Given the description of an element on the screen output the (x, y) to click on. 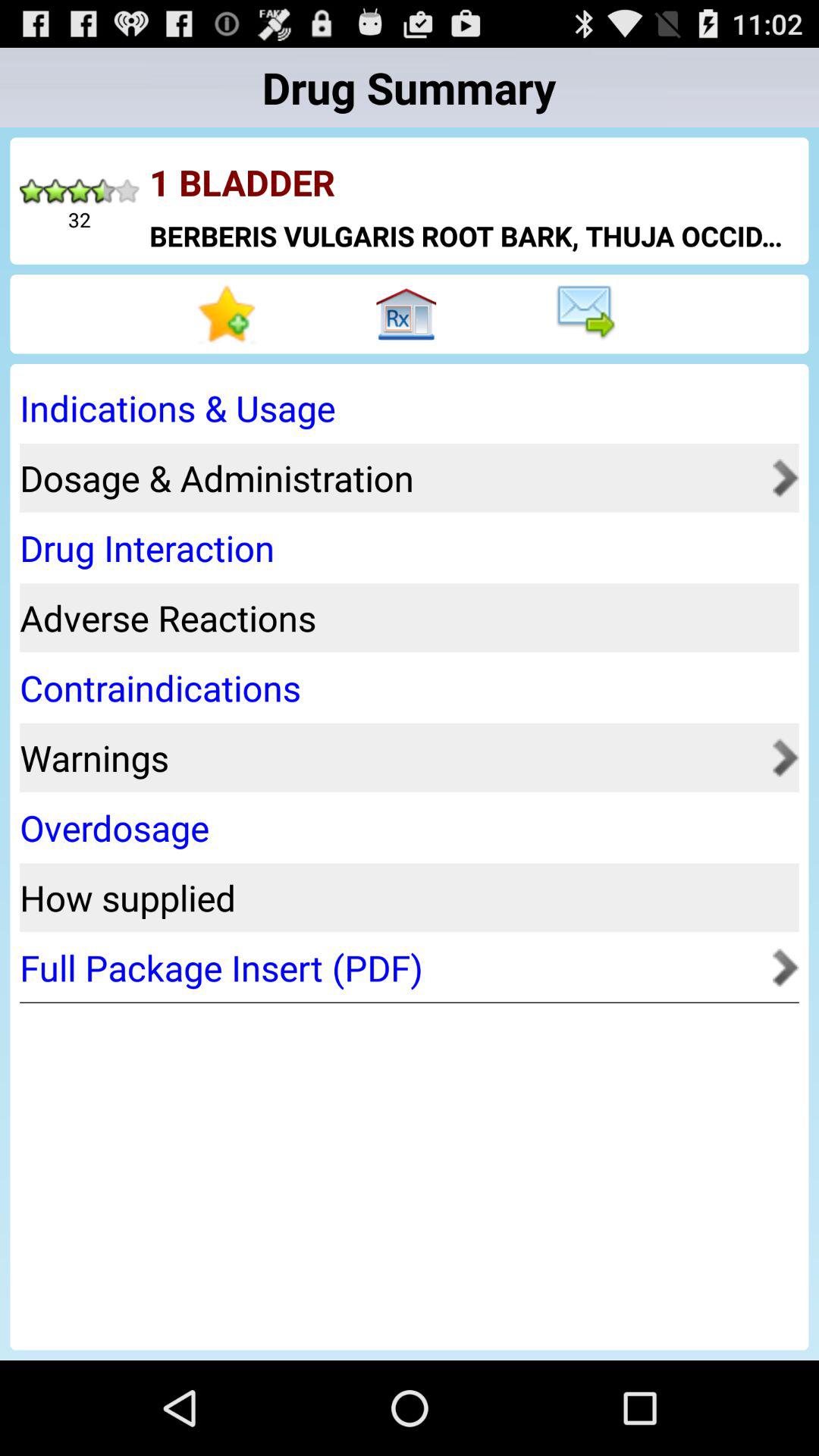
send message (589, 314)
